Given the description of an element on the screen output the (x, y) to click on. 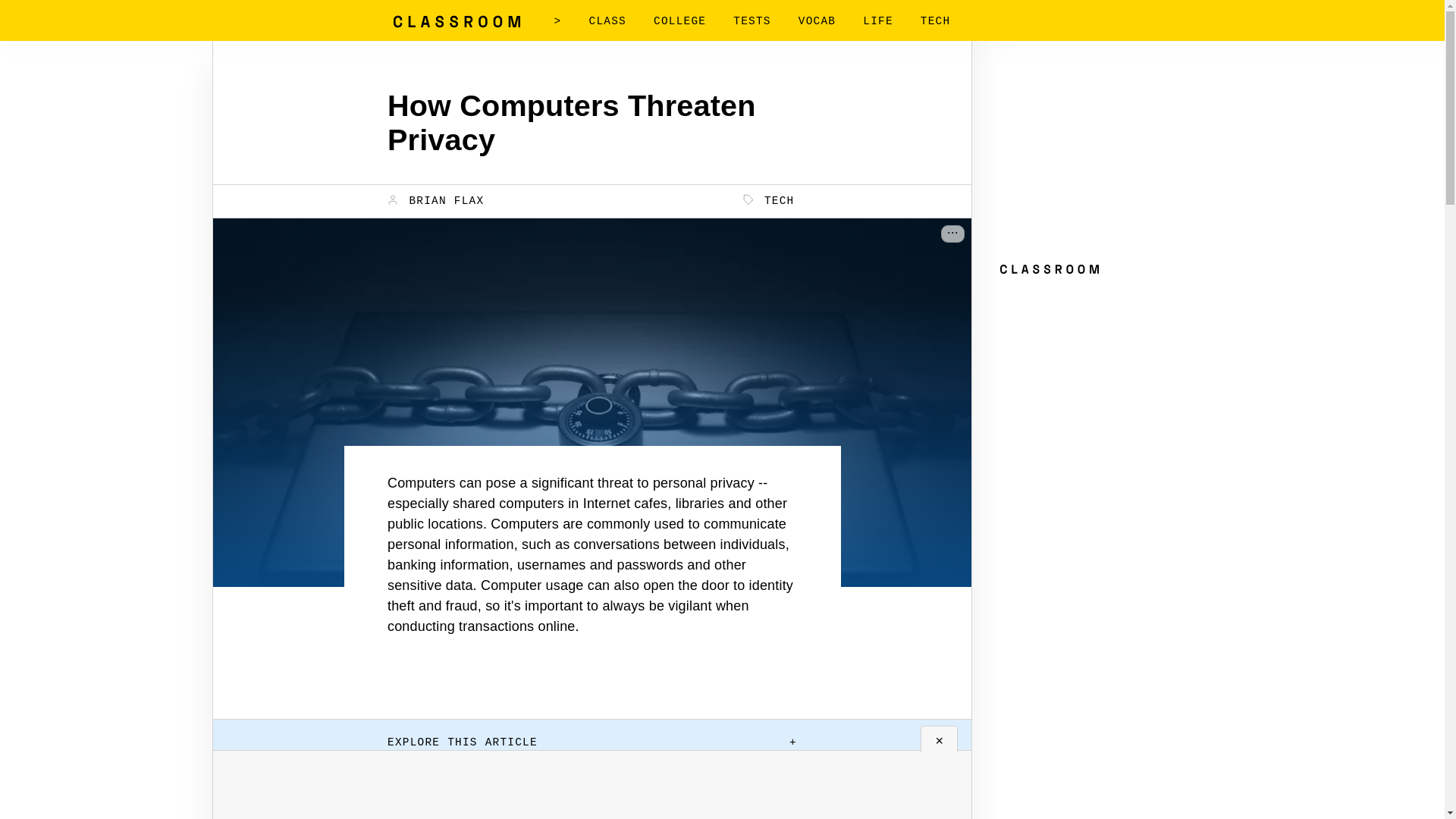
TECH (768, 200)
TESTS (751, 21)
TECH (935, 21)
LIFE (878, 21)
COLLEGE (679, 21)
CLASS (607, 21)
VOCAB (816, 21)
